Given the description of an element on the screen output the (x, y) to click on. 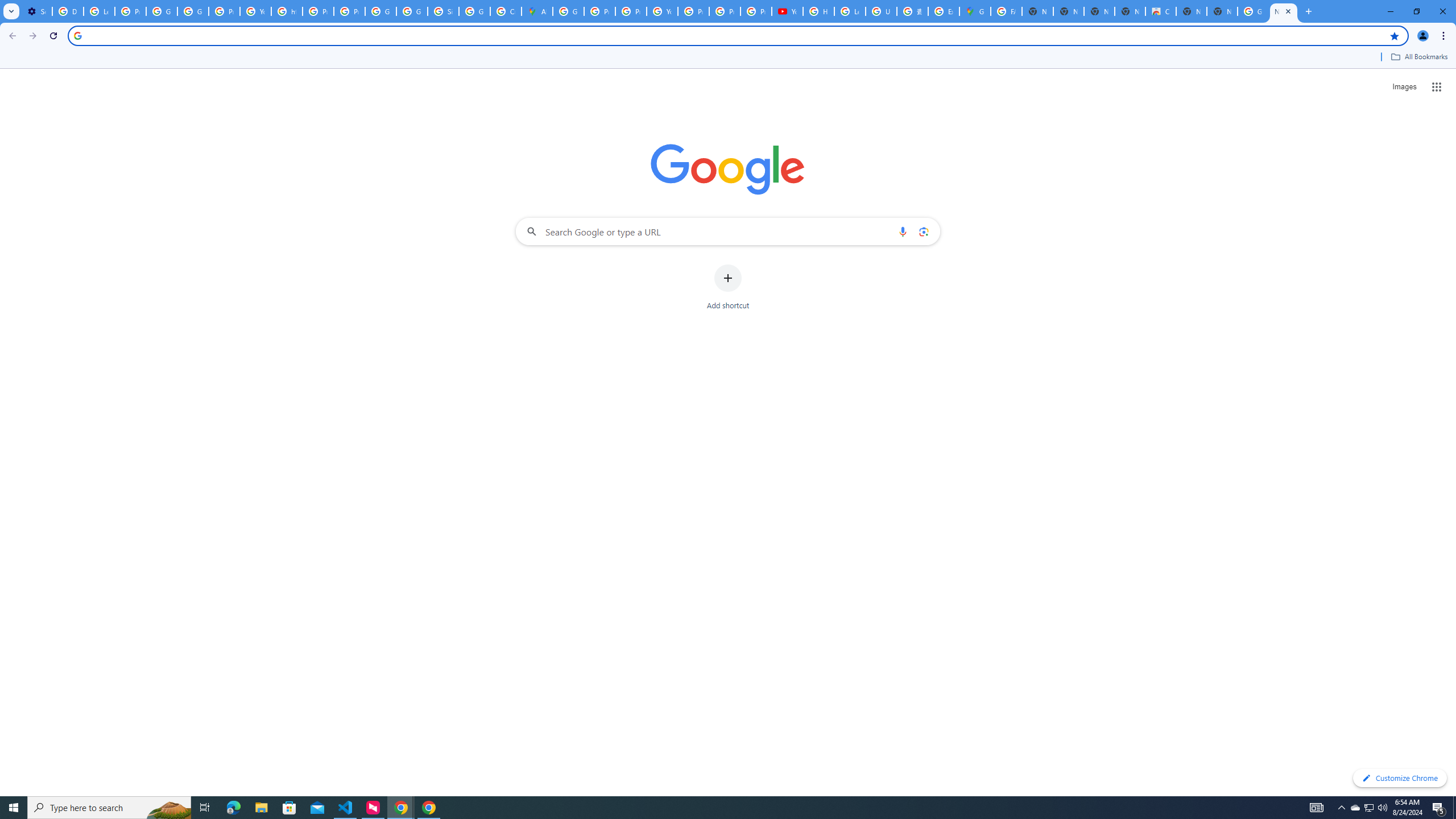
YouTube (255, 11)
Delete photos & videos - Computer - Google Photos Help (67, 11)
Privacy Help Center - Policies Help (599, 11)
Chrome Web Store (1160, 11)
Sign in - Google Accounts (443, 11)
New Tab (1222, 11)
Create your Google Account (505, 11)
